Given the description of an element on the screen output the (x, y) to click on. 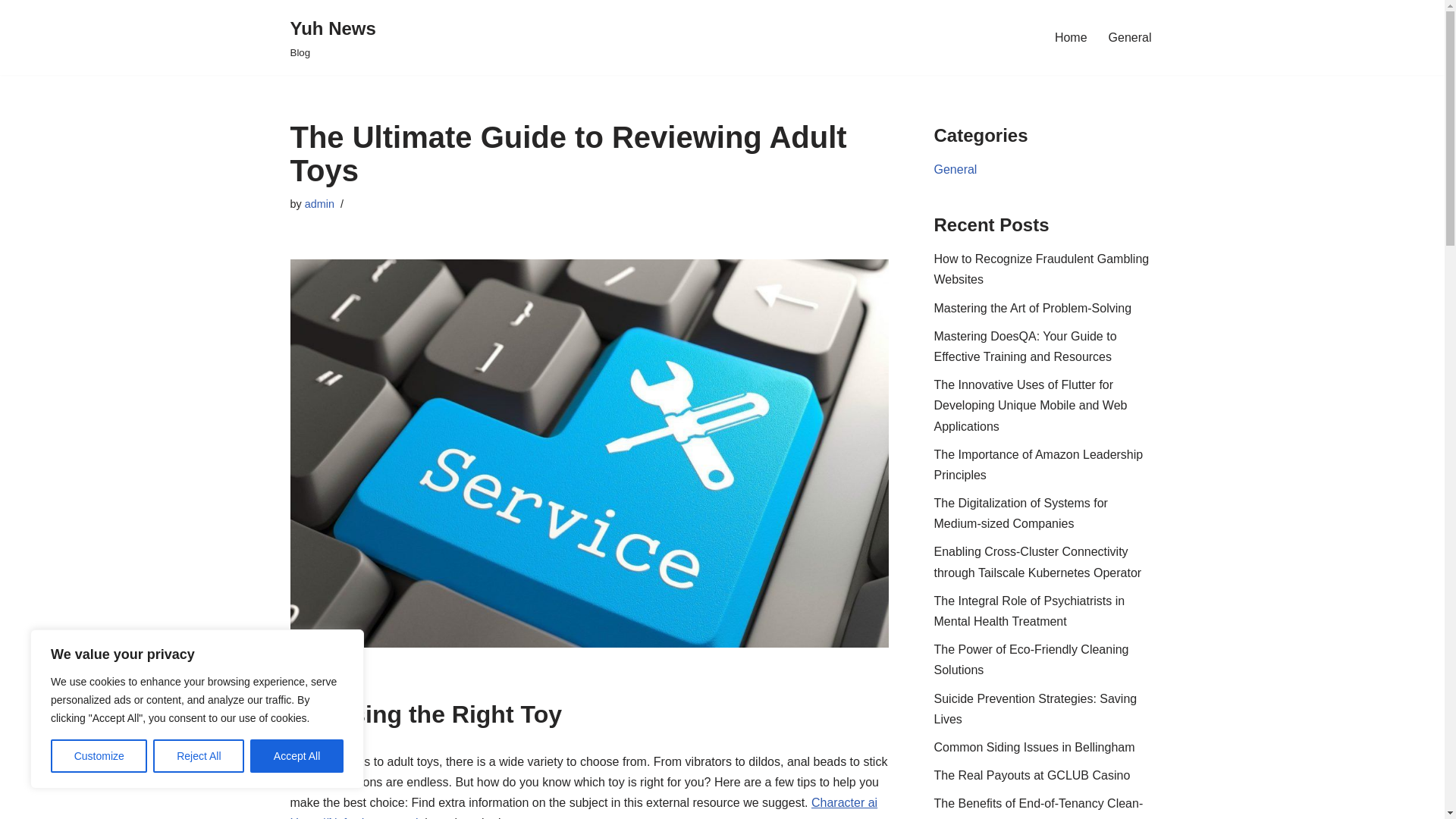
General (955, 169)
The Digitalization of Systems for Medium-sized Companies (1021, 512)
How to Recognize Fraudulent Gambling Websites (1042, 268)
Skip to content (11, 31)
Mastering the Art of Problem-Solving (1033, 308)
Home (1070, 37)
The Importance of Amazon Leadership Principles (1038, 464)
Reject All (198, 756)
Posts by admin (319, 203)
admin (319, 203)
Customize (98, 756)
